Given the description of an element on the screen output the (x, y) to click on. 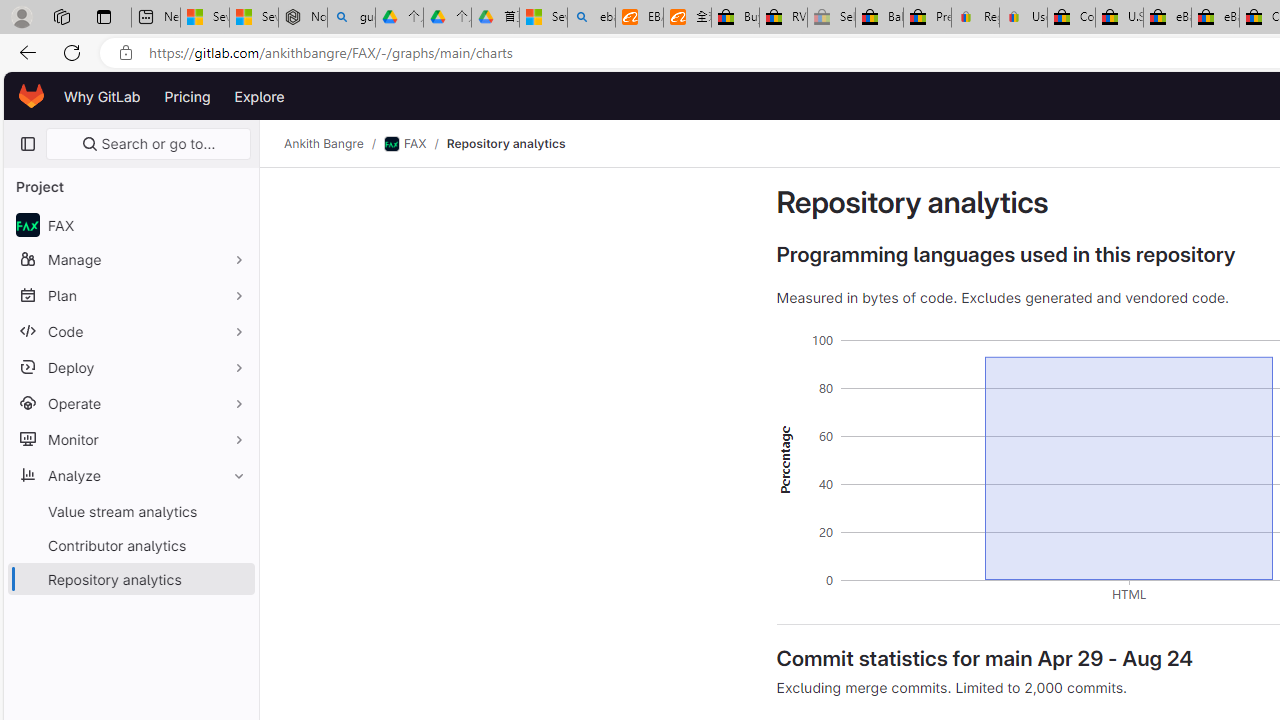
Homepage (31, 95)
Monitor (130, 439)
Explore (259, 95)
Repository analytics (505, 143)
Operate (130, 403)
Plan (130, 295)
Press Room - eBay Inc. (927, 17)
Manage (130, 259)
avatar (27, 224)
Register: Create a personal eBay account (975, 17)
